Given the description of an element on the screen output the (x, y) to click on. 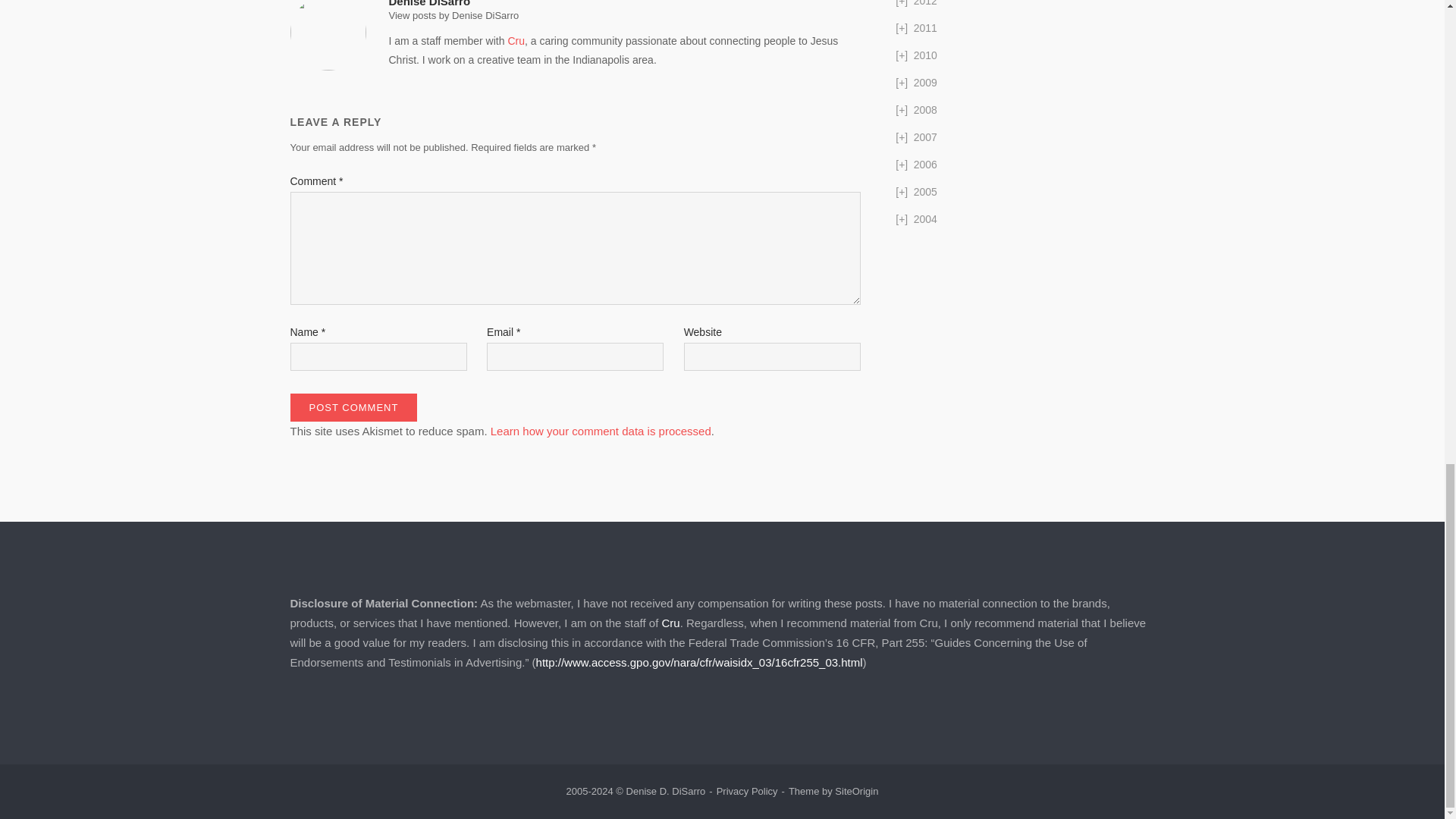
Post Comment (352, 407)
Cru (515, 40)
Post Comment (352, 407)
Learn how your comment data is processed (600, 431)
View posts by Denise DiSarro (453, 15)
